Given the description of an element on the screen output the (x, y) to click on. 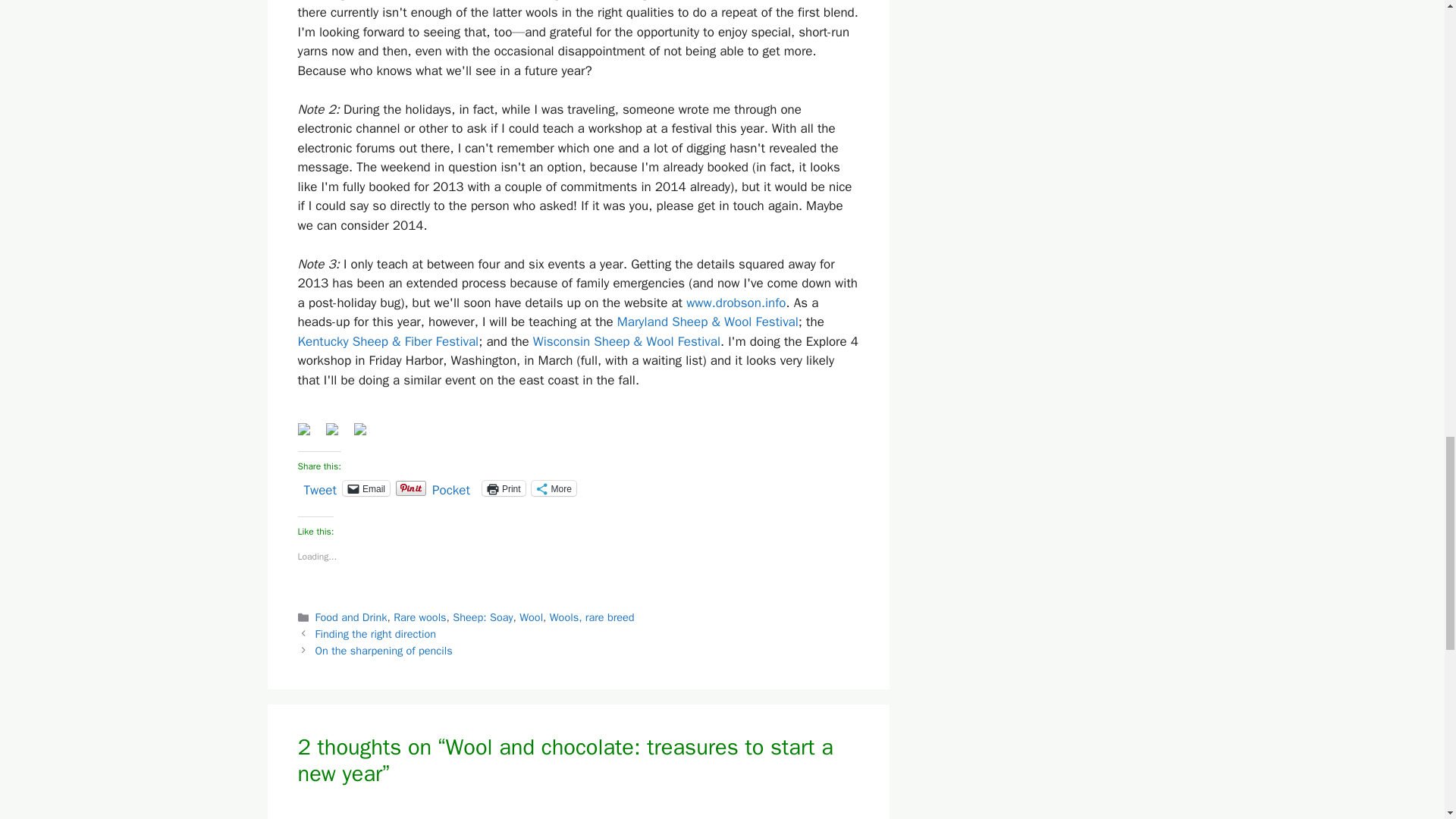
Click to email a link to a friend (366, 488)
Follow us on Twitter (331, 428)
Subscribe to our RSS Feed (365, 435)
Click to print (503, 488)
Follow us on Twitter (338, 435)
Follow us on Facebook (302, 428)
Subscribe to our RSS Feed (359, 428)
Follow us on Facebook (309, 435)
